Given the description of an element on the screen output the (x, y) to click on. 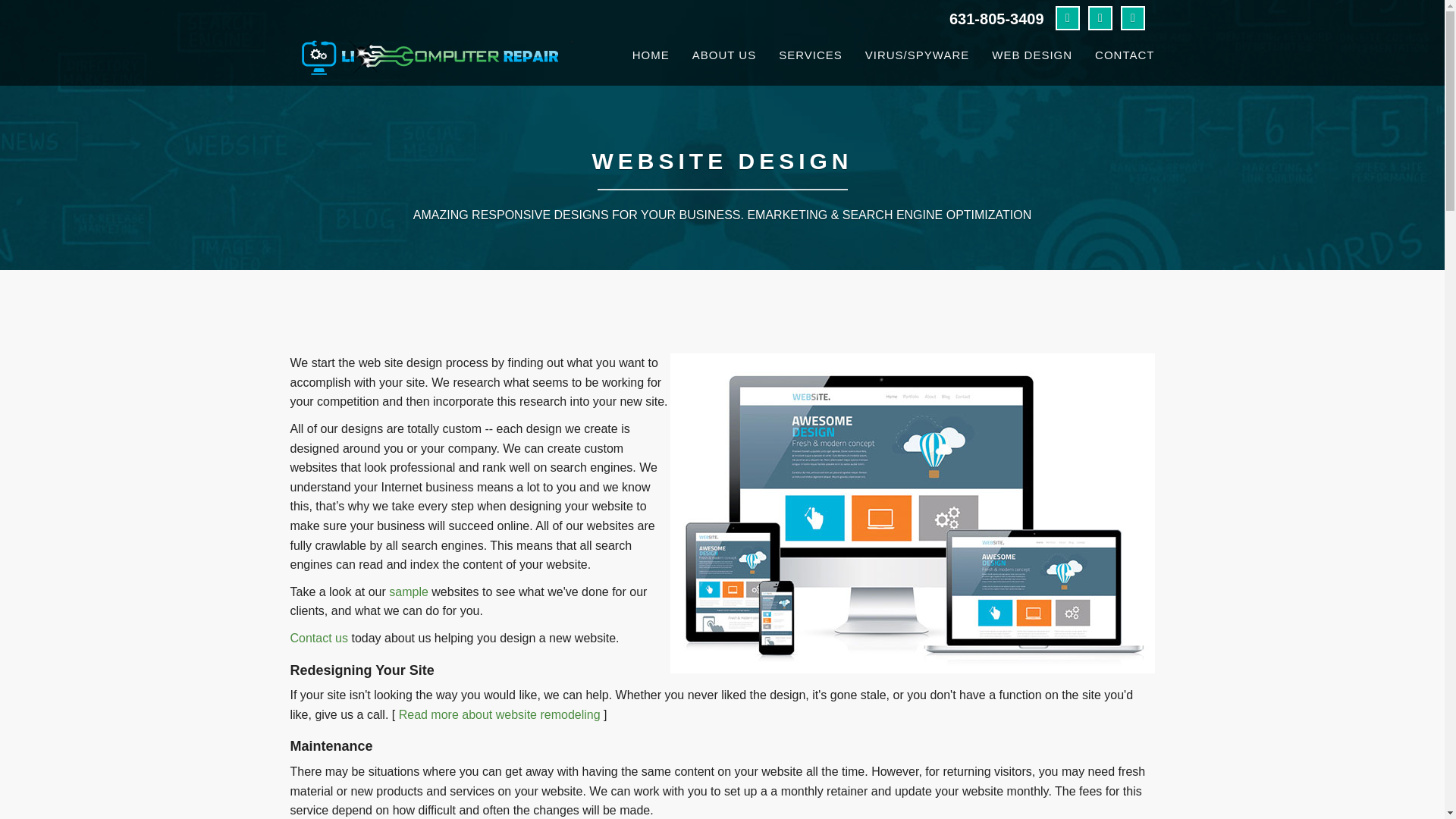
Web Design, Wordpress, SEO Pros. (1031, 53)
Read more about website remodeling (498, 717)
Computer Repair Long Island (590, 495)
Computer Repair Near Me (590, 612)
Laptop Repair Long Island (590, 514)
Computer Repair Services Long Island (597, 651)
CONTACT (1124, 53)
Computer Virus and Spyware Removals (916, 53)
Website Design and SEO Ninjas Long Island (586, 534)
Computer Repair Services Nassau County Long Island (386, 554)
